Given the description of an element on the screen output the (x, y) to click on. 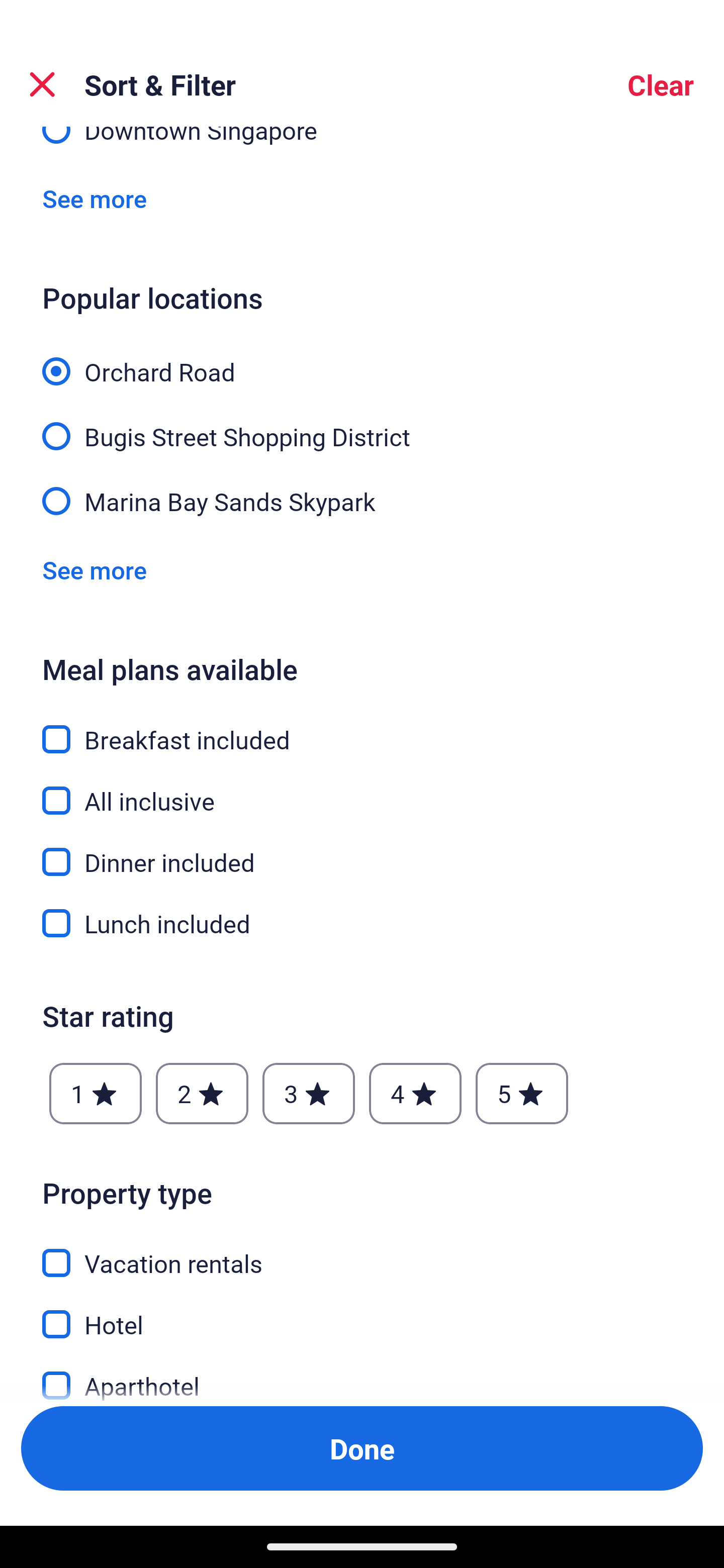
Close Sort and Filter (42, 84)
Clear (660, 84)
See more See more neighborhoods Link (93, 198)
Bugis Street Shopping District (361, 425)
Marina Bay Sands Skypark (361, 499)
See more See more popular locations Link (93, 569)
Breakfast included, Breakfast included (361, 727)
All inclusive, All inclusive (361, 789)
Dinner included, Dinner included (361, 850)
Lunch included, Lunch included (361, 923)
1 (95, 1093)
2 (201, 1093)
3 (308, 1093)
4 (415, 1093)
5 (521, 1093)
Vacation rentals, Vacation rentals (361, 1251)
Hotel, Hotel (361, 1312)
Aparthotel, Aparthotel (361, 1374)
Apply and close Sort and Filter Done (361, 1448)
